Given the description of an element on the screen output the (x, y) to click on. 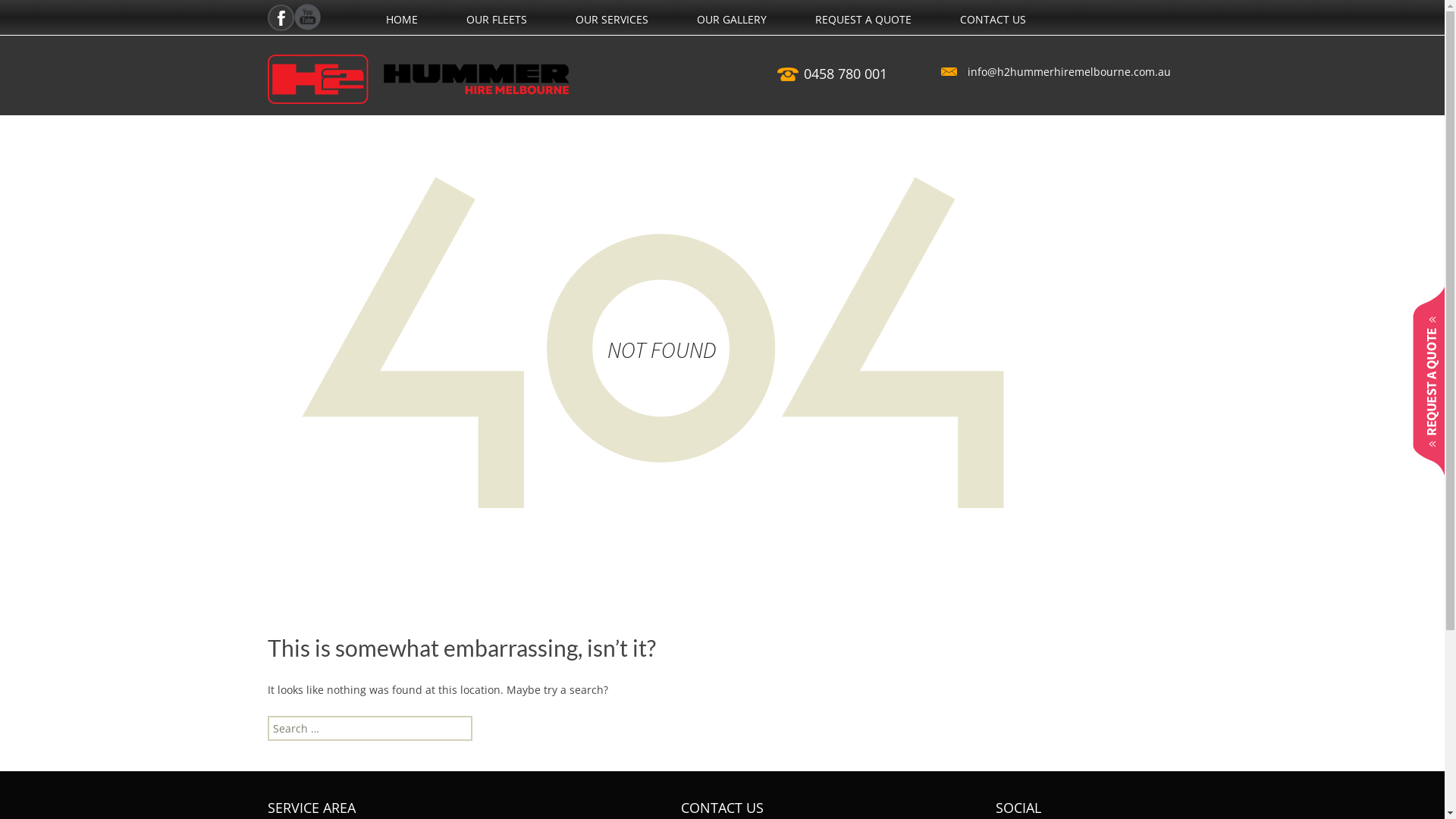
H2 Hummer Hire Melbourne Element type: hover (416, 78)
Skip to content Element type: text (385, 11)
OUR GALLERY Element type: text (730, 19)
facebook Element type: hover (279, 17)
Debutante Balls Element type: text (650, 40)
OUR FLEETS Element type: text (495, 19)
0458 780 001 Element type: text (845, 73)
Youtube Element type: hover (307, 17)
REQUEST A QUOTE Element type: text (862, 19)
HOME Element type: text (401, 19)
Youtube Element type: hover (307, 16)
info@h2hummerhiremelbourne.com.au Element type: text (1059, 71)
facebook Element type: hover (279, 16)
Hummer H2 Black Beauty 12 Seater Element type: text (541, 47)
OUR SERVICES Element type: text (610, 19)
CONTACT US Element type: text (993, 19)
Search Element type: text (35, 15)
